Given the description of an element on the screen output the (x, y) to click on. 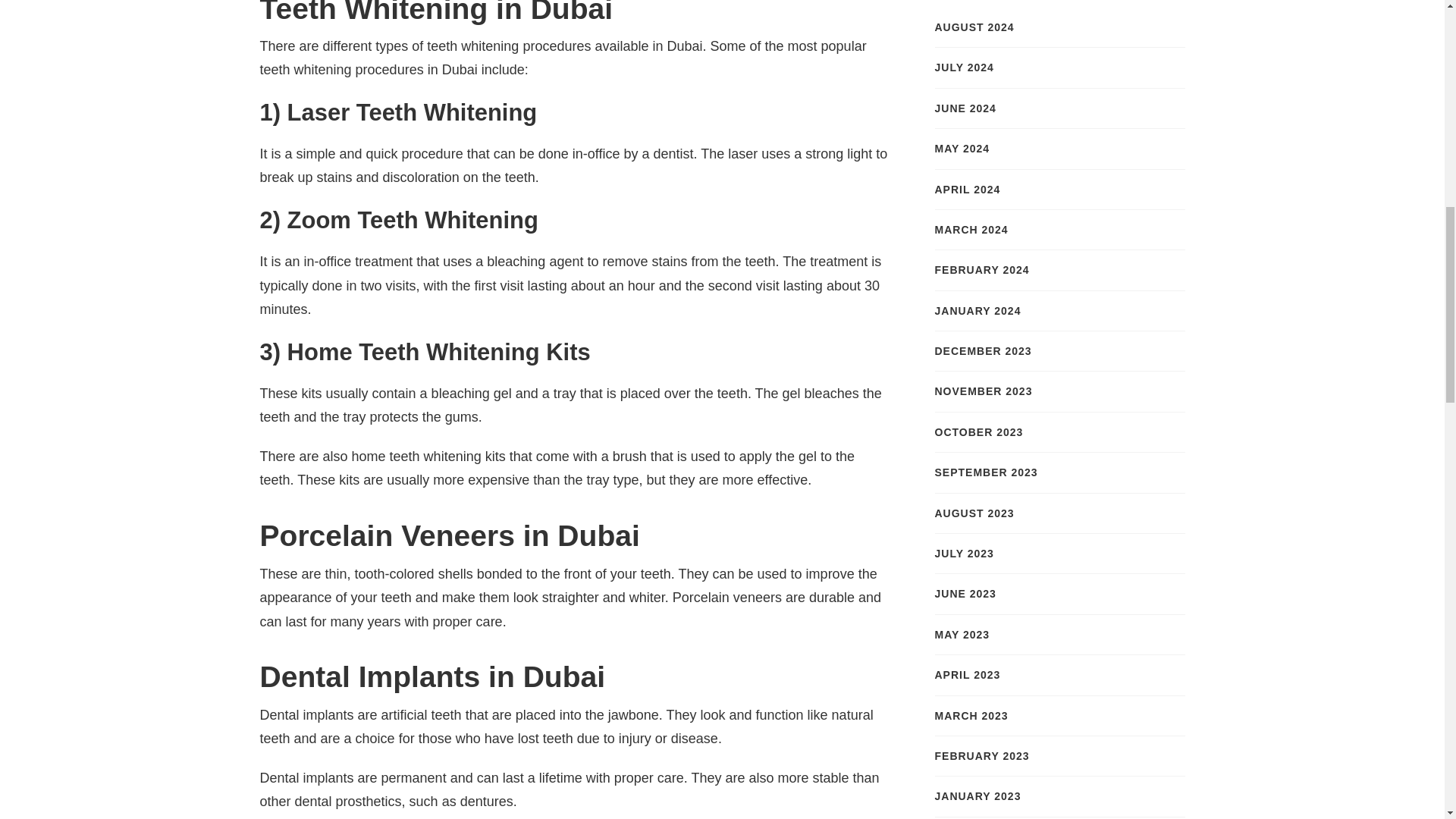
MAY 2024 (962, 148)
AUGUST 2024 (973, 27)
JULY 2024 (963, 67)
JUNE 2024 (964, 108)
